Given the description of an element on the screen output the (x, y) to click on. 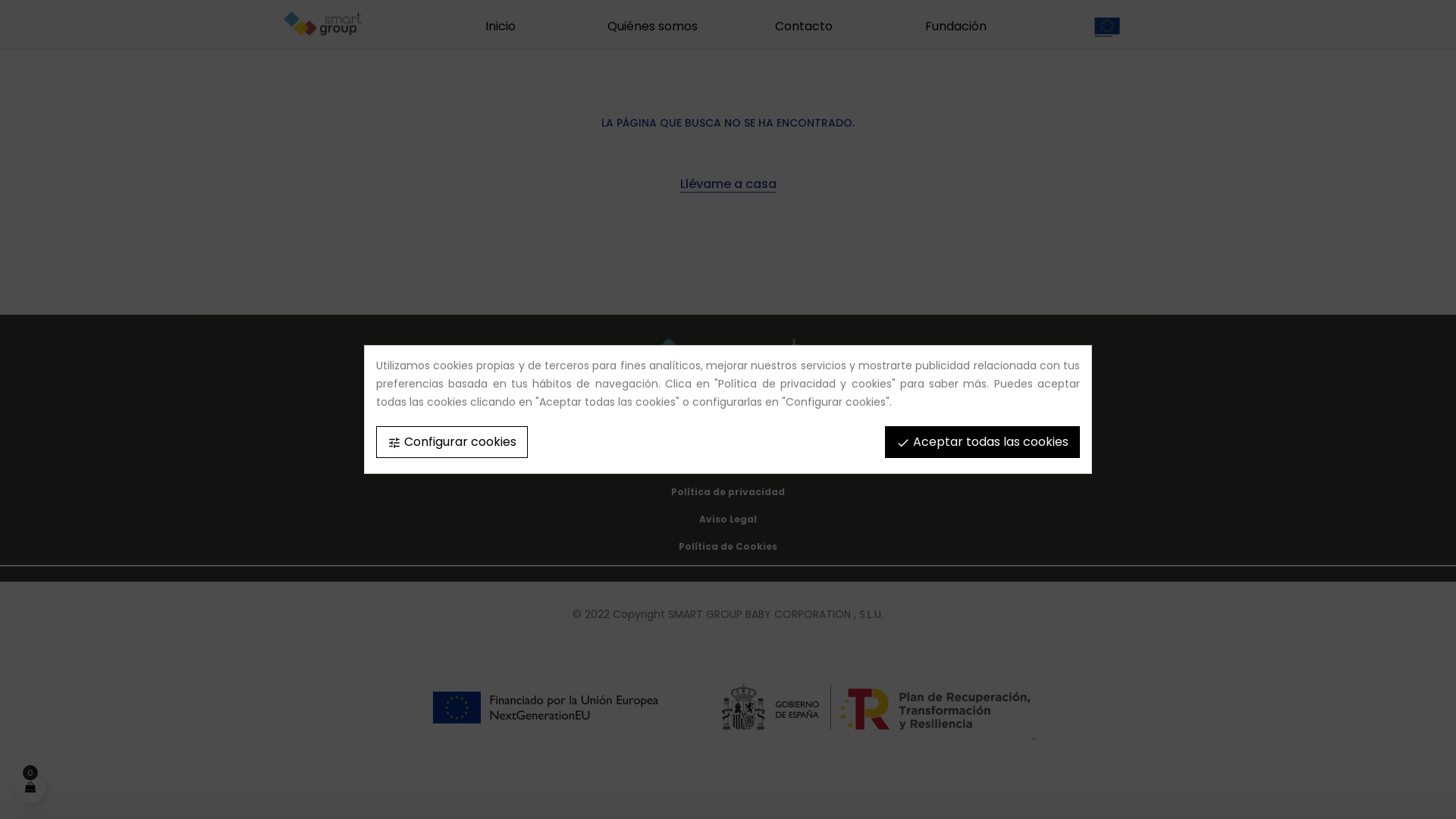
Inicio Element type: text (500, 25)
Aviso Legal Element type: text (727, 518)
Contacto Element type: text (803, 25)
tune Configurar cookies Element type: text (451, 442)
done Aceptar todas las cookies Element type: text (981, 442)
